Given the description of an element on the screen output the (x, y) to click on. 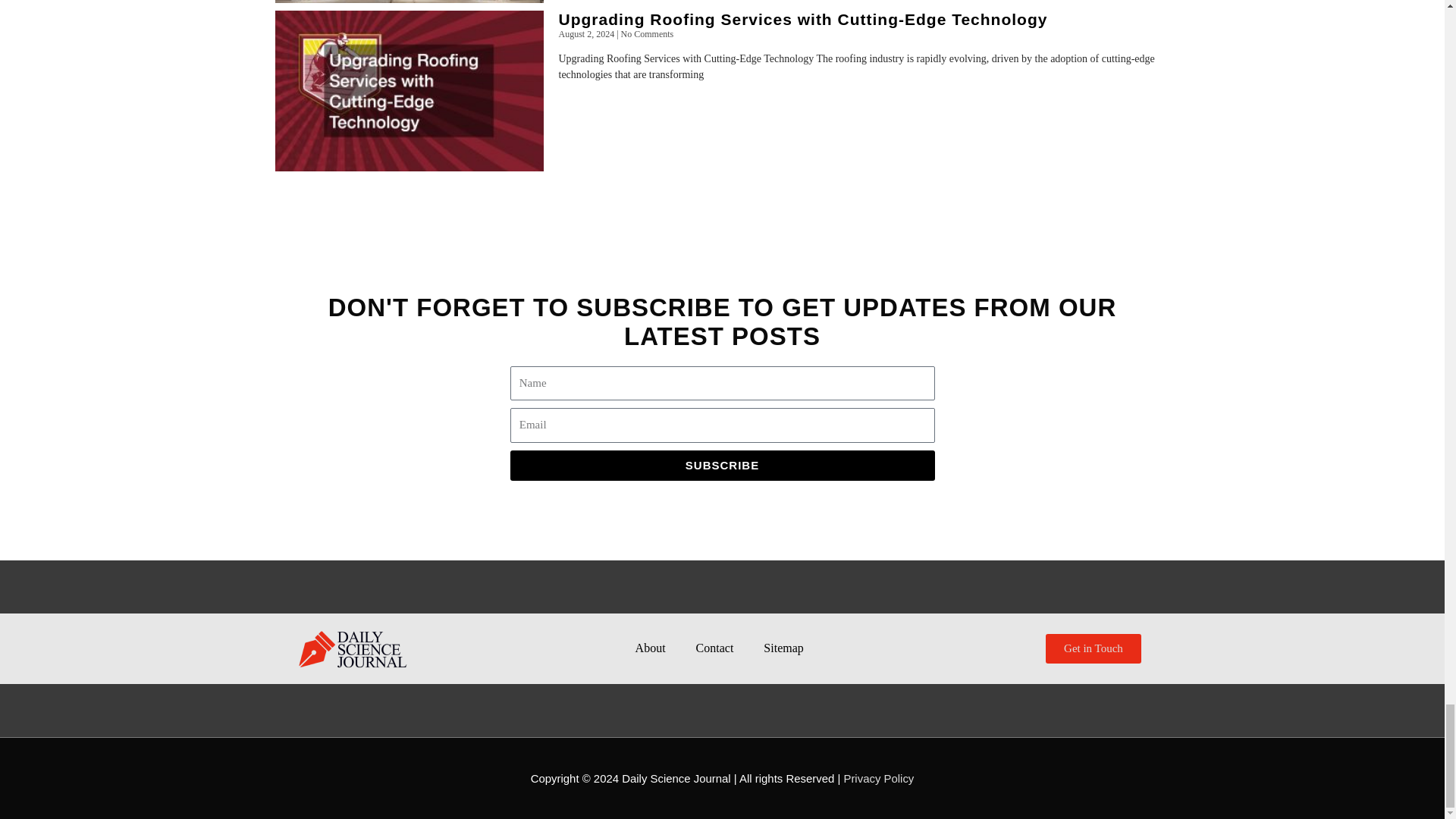
Upgrading Roofing Services with Cutting-Edge Technology (801, 18)
Contact (715, 647)
SUBSCRIBE (721, 465)
Privacy Policy (878, 778)
Sitemap (783, 647)
About (650, 647)
Get in Touch (1093, 648)
